Given the description of an element on the screen output the (x, y) to click on. 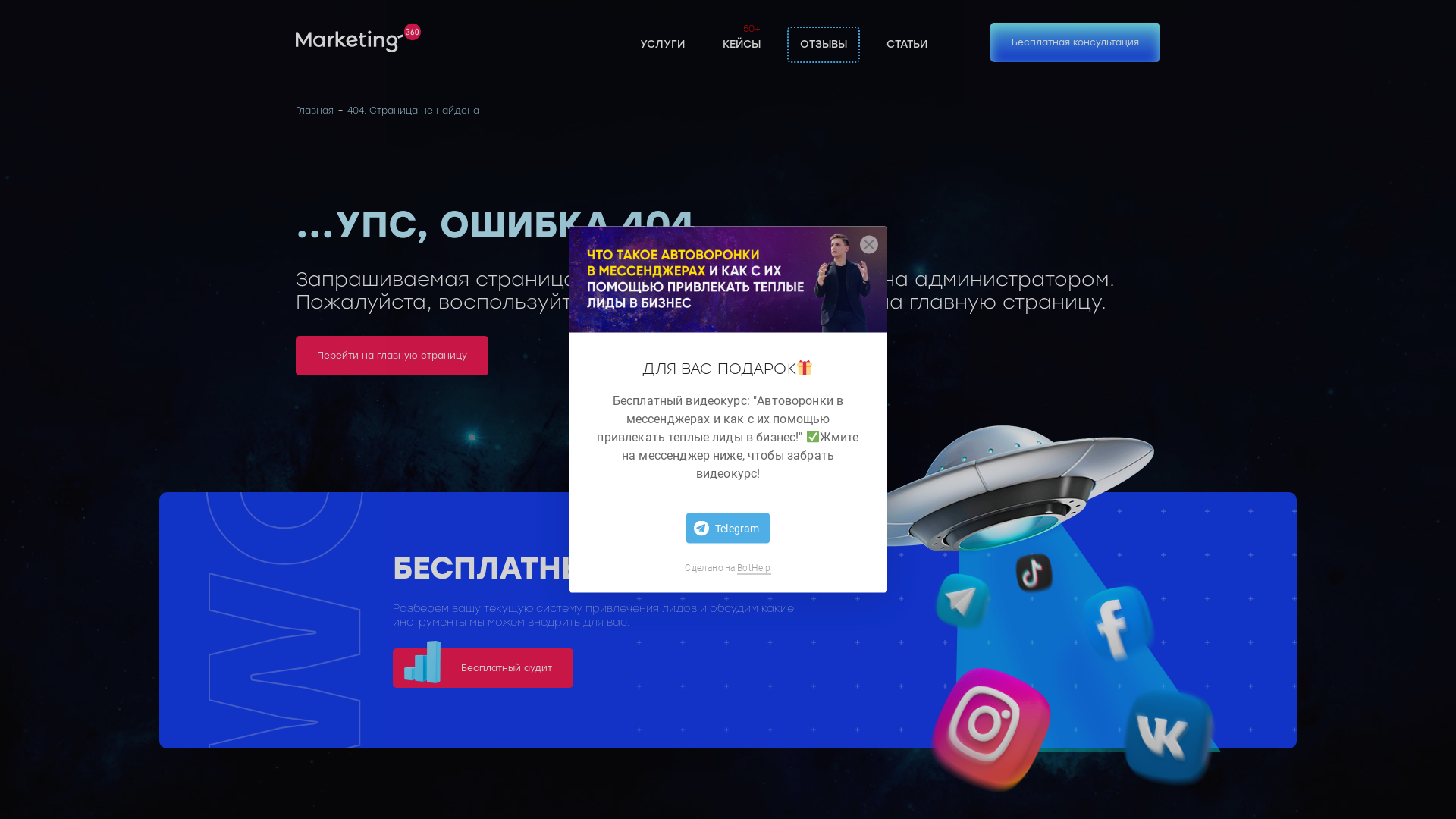
BotHelp Element type: text (754, 567)
Telegram Element type: text (727, 527)
